Given the description of an element on the screen output the (x, y) to click on. 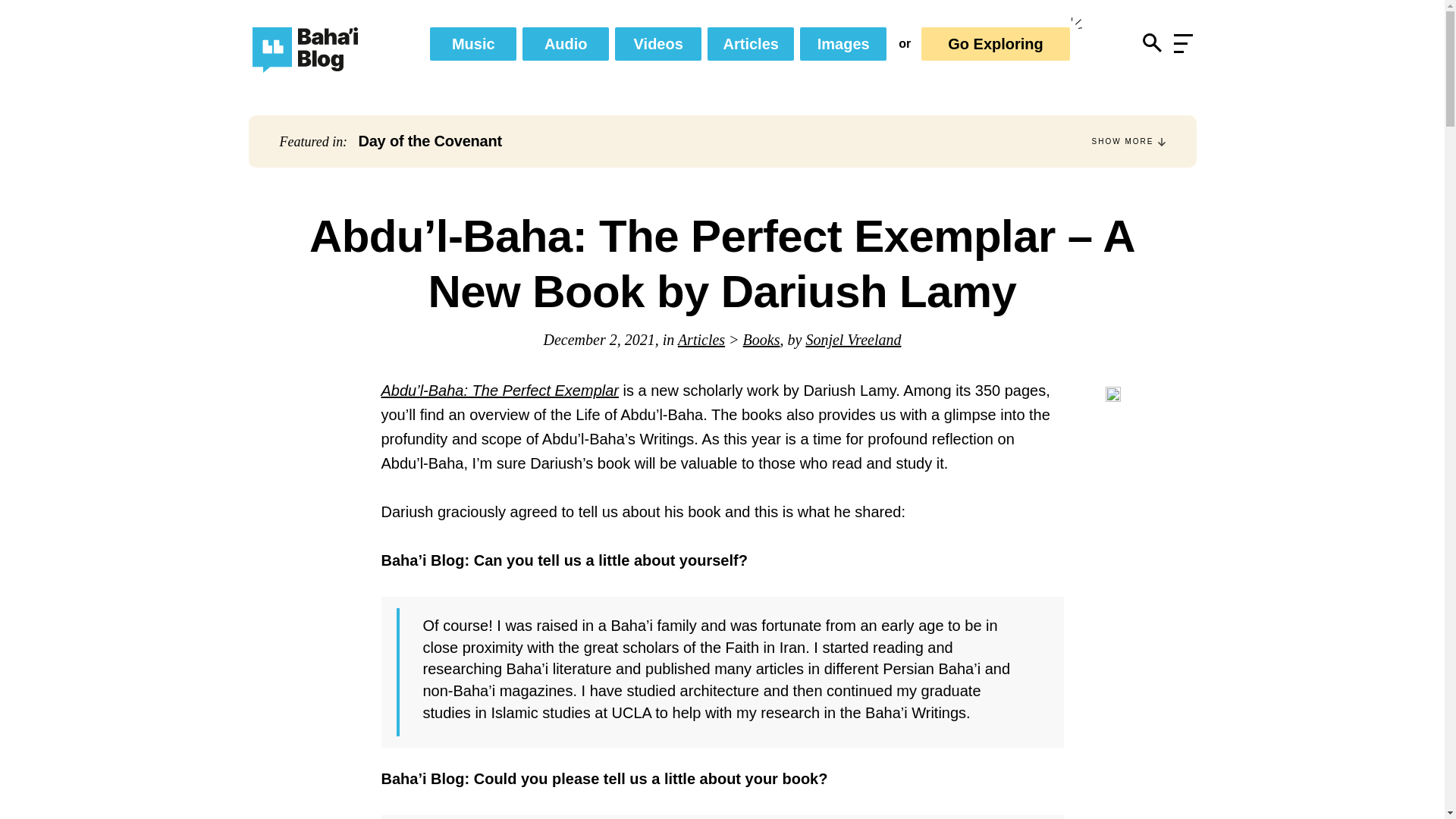
SHOW MORE (1129, 141)
Music (472, 43)
Videos (657, 43)
Images (842, 43)
Day of the Covenant (430, 140)
Go Exploring (995, 43)
Articles (750, 43)
Posts by Sonjel Vreeland (853, 339)
Audio (565, 43)
